Given the description of an element on the screen output the (x, y) to click on. 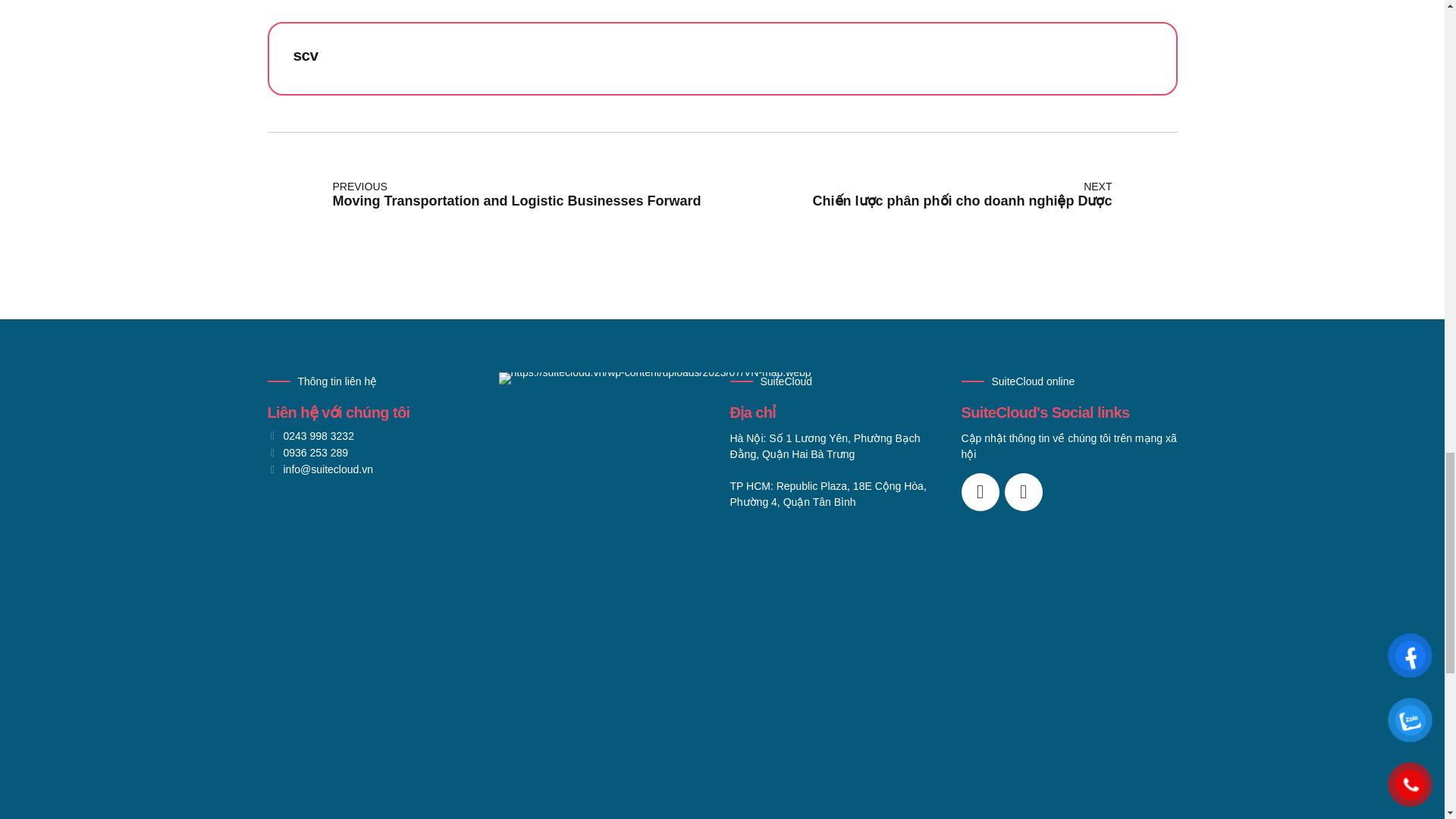
0243 998 3232 (309, 436)
0243 998 3232 (309, 436)
0936 253 289 (306, 452)
0936 253 289 (306, 452)
